Given the description of an element on the screen output the (x, y) to click on. 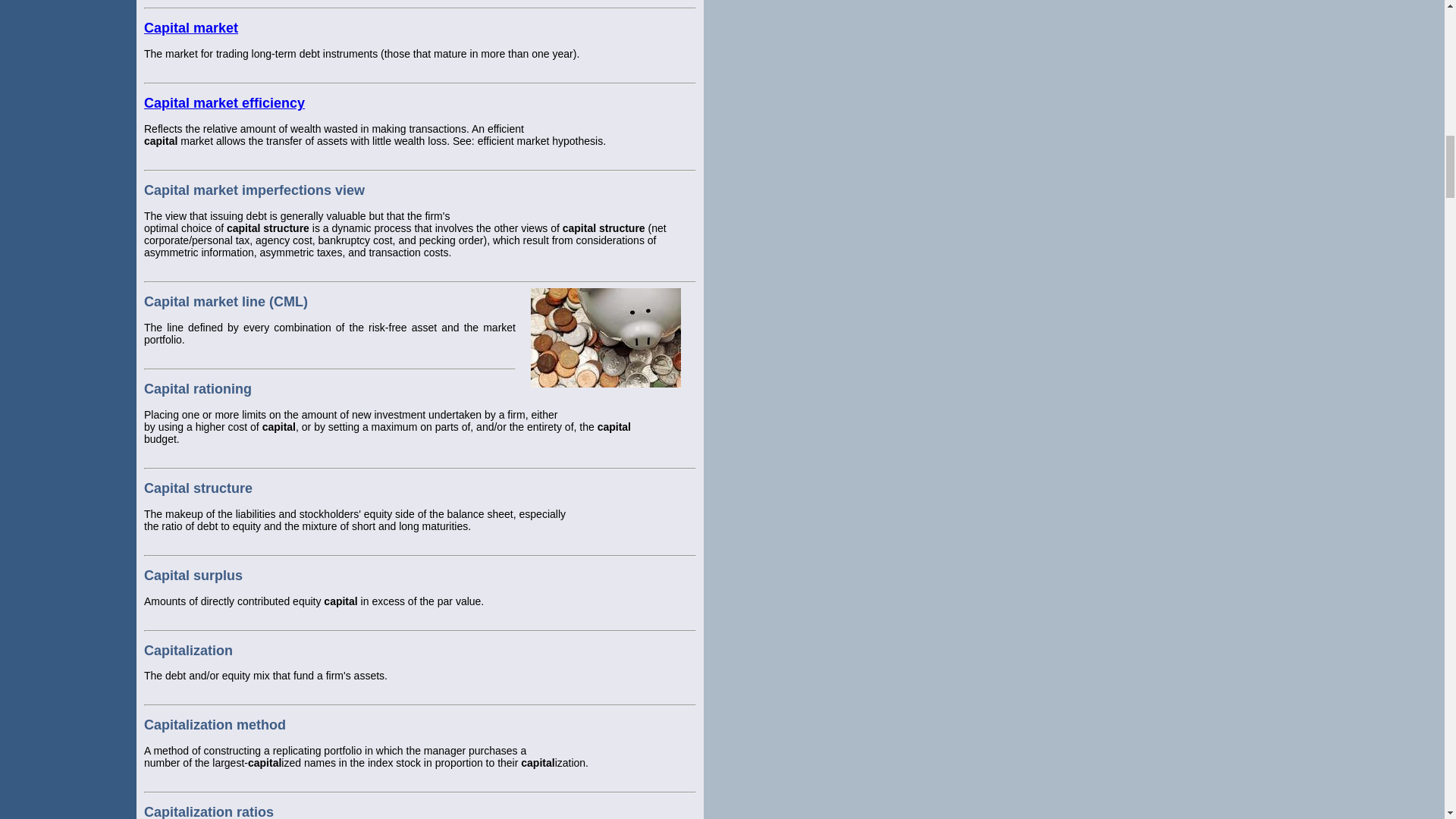
Capital market efficiency (224, 102)
Capital market (191, 28)
